Given the description of an element on the screen output the (x, y) to click on. 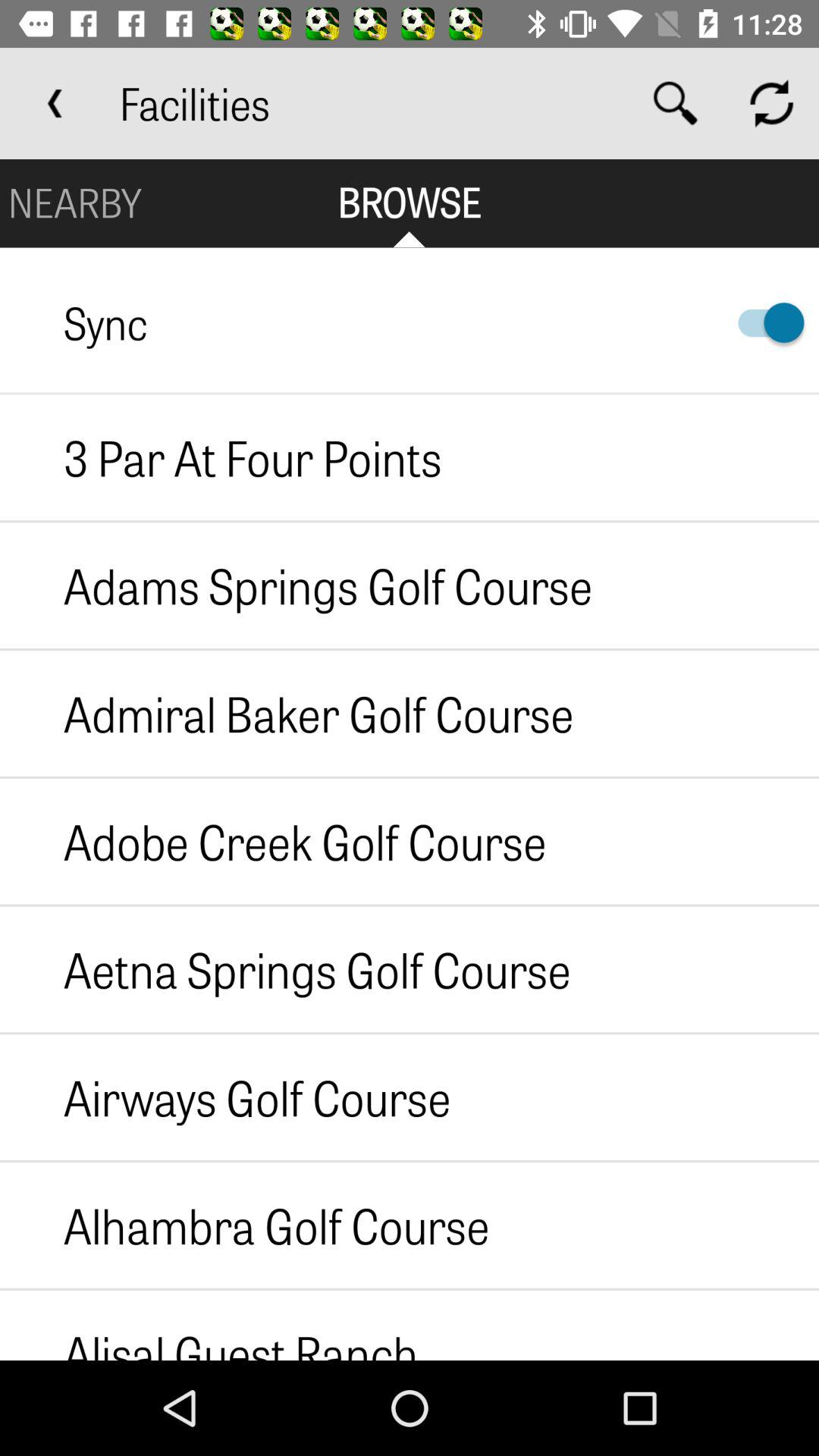
click the alisal guest ranch icon (209, 1325)
